Given the description of an element on the screen output the (x, y) to click on. 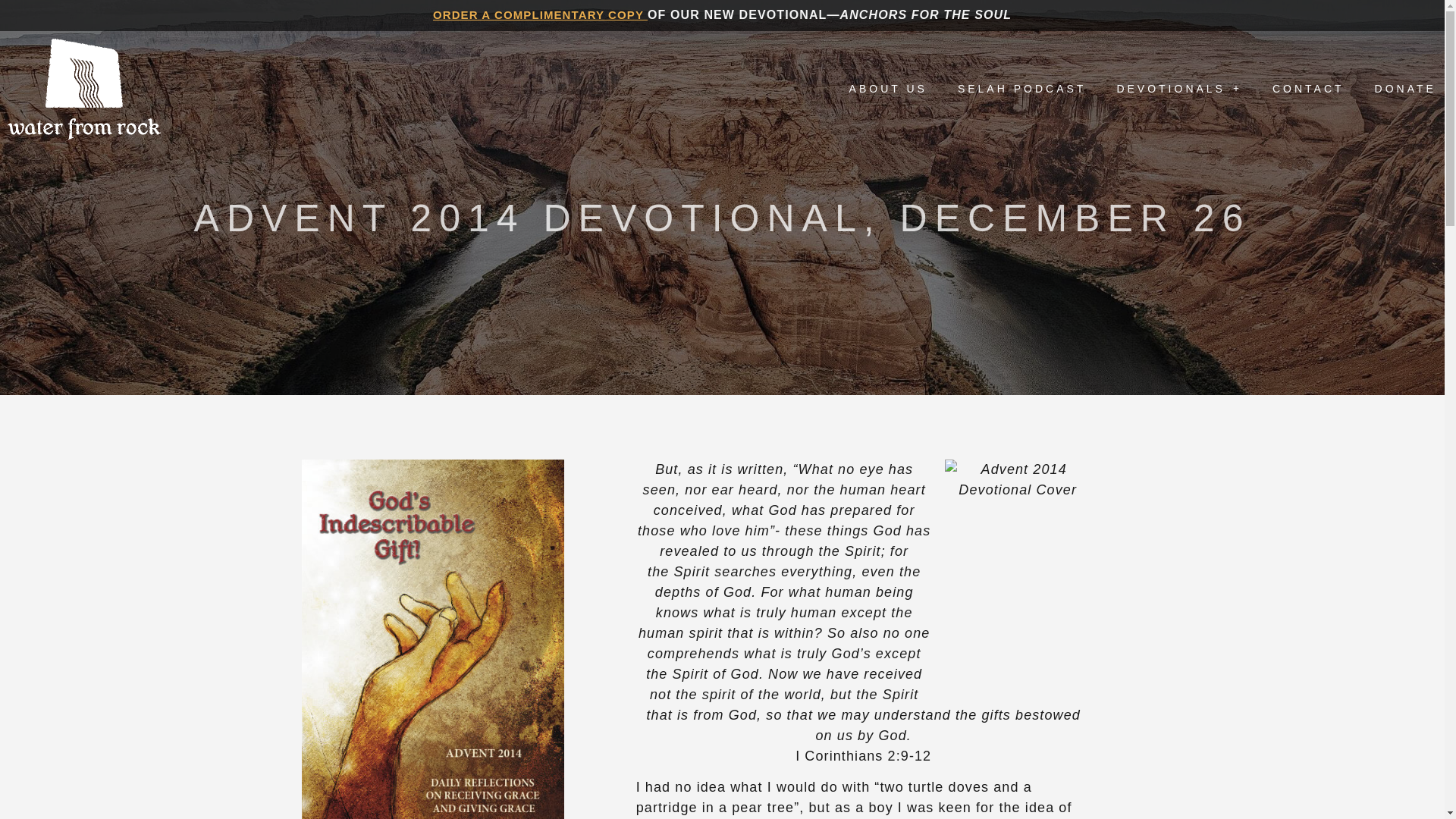
SELAH PODCAST (1022, 87)
CONTACT (1307, 87)
ABOUT US (887, 87)
ORDER A COMPLIMENTARY COPY (539, 14)
DEVOTIONALS (1178, 87)
